Given the description of an element on the screen output the (x, y) to click on. 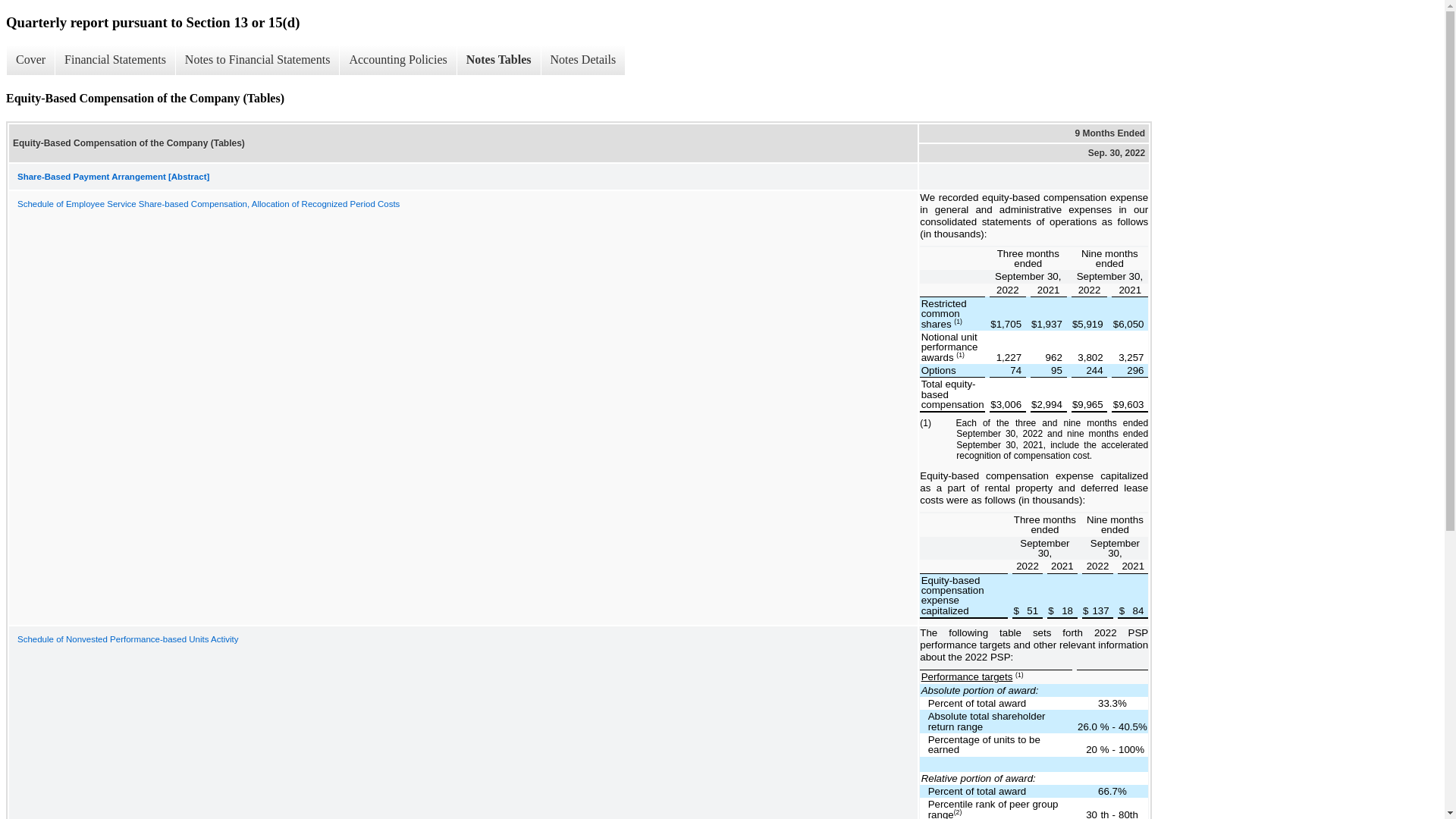
Notes to Financial Statements (256, 60)
Cover (30, 60)
Accounting Policies (397, 60)
Financial Statements (114, 60)
